Given the description of an element on the screen output the (x, y) to click on. 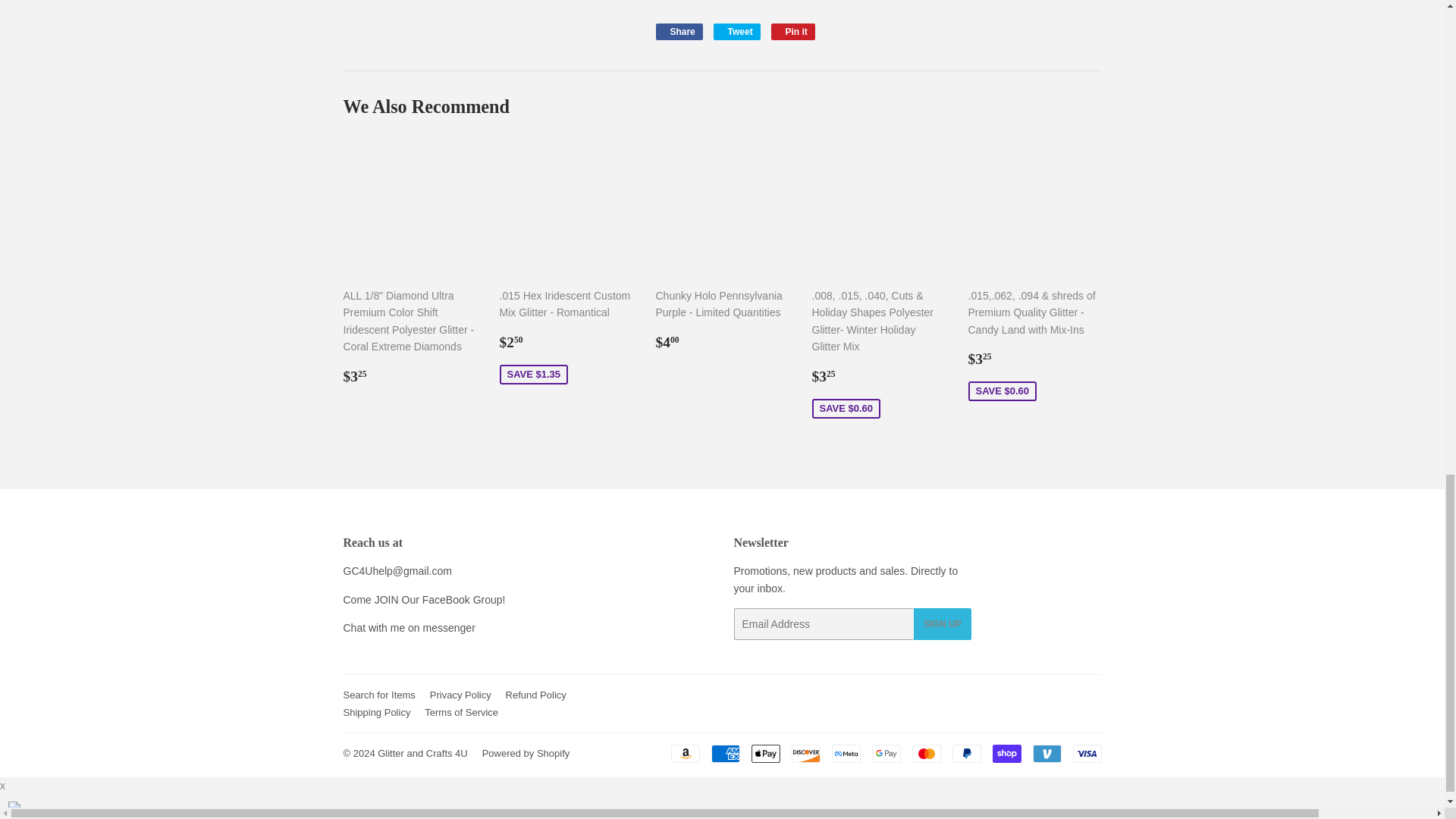
Google Pay (886, 753)
Tweet on Twitter (736, 31)
Shop Pay (1005, 753)
Venmo (1046, 753)
Amazon (683, 753)
Discover (806, 753)
Visa (1085, 753)
Pin on Pinterest (793, 31)
PayPal (966, 753)
Share on Facebook (678, 31)
